Given the description of an element on the screen output the (x, y) to click on. 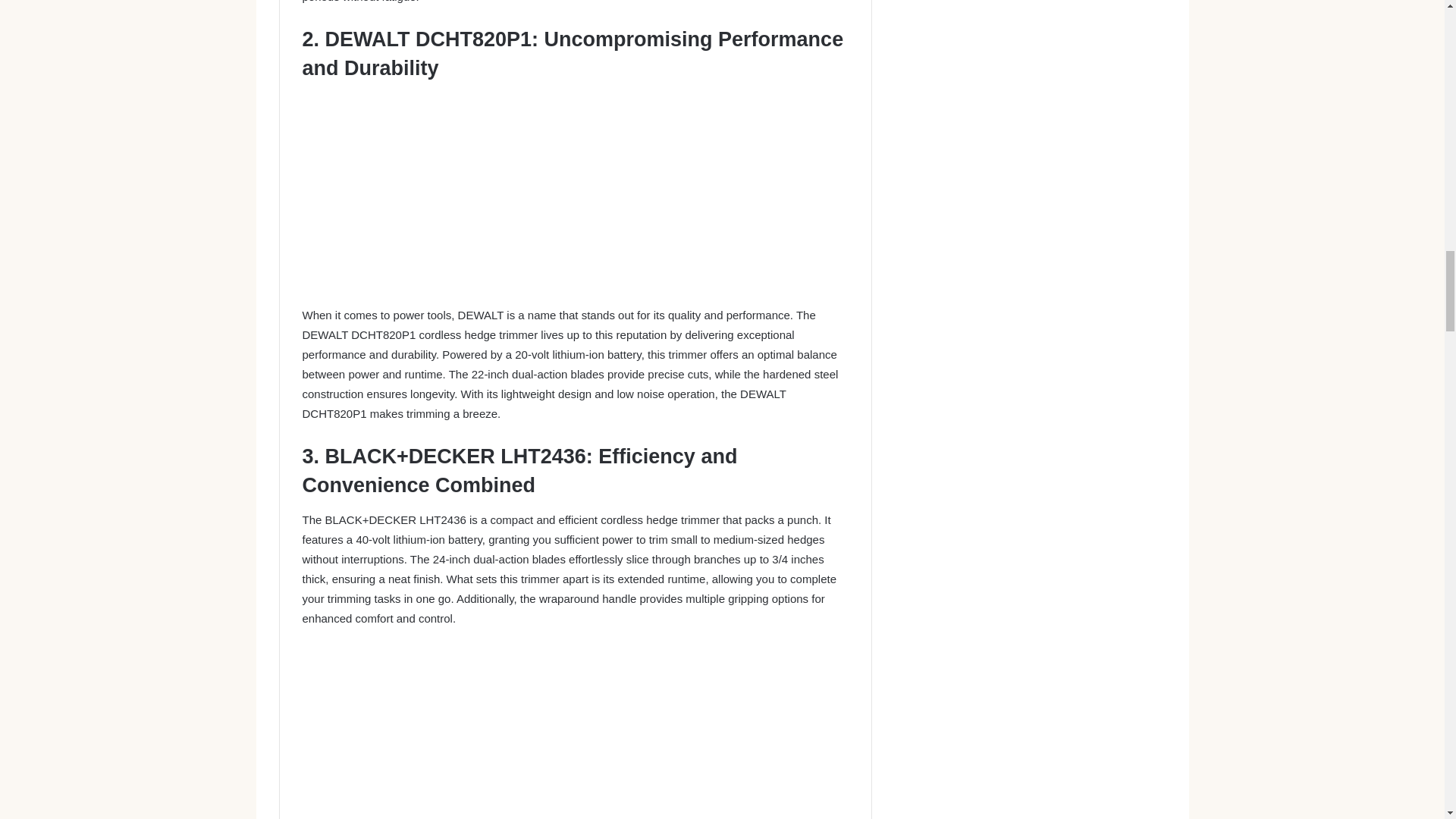
Advertisement (575, 733)
Advertisement (575, 199)
